Given the description of an element on the screen output the (x, y) to click on. 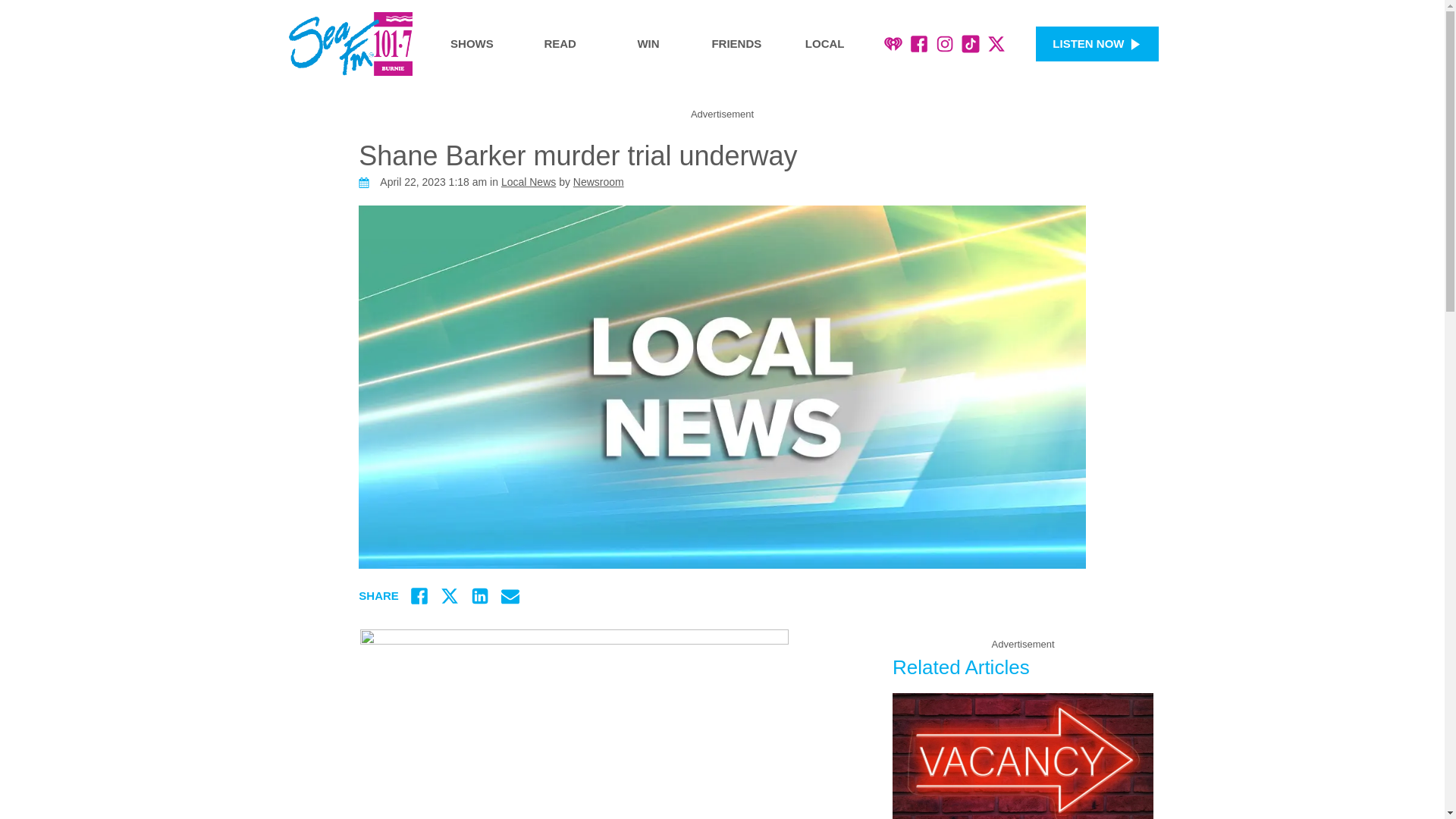
Tiktok (969, 44)
READ (560, 43)
Facebook (919, 44)
LISTEN NOW (1096, 44)
LOCAL (824, 43)
WIN (648, 43)
SHOWS (471, 43)
Instagram (944, 44)
iHeart (892, 44)
Posts by Newsroom (598, 182)
